Given the description of an element on the screen output the (x, y) to click on. 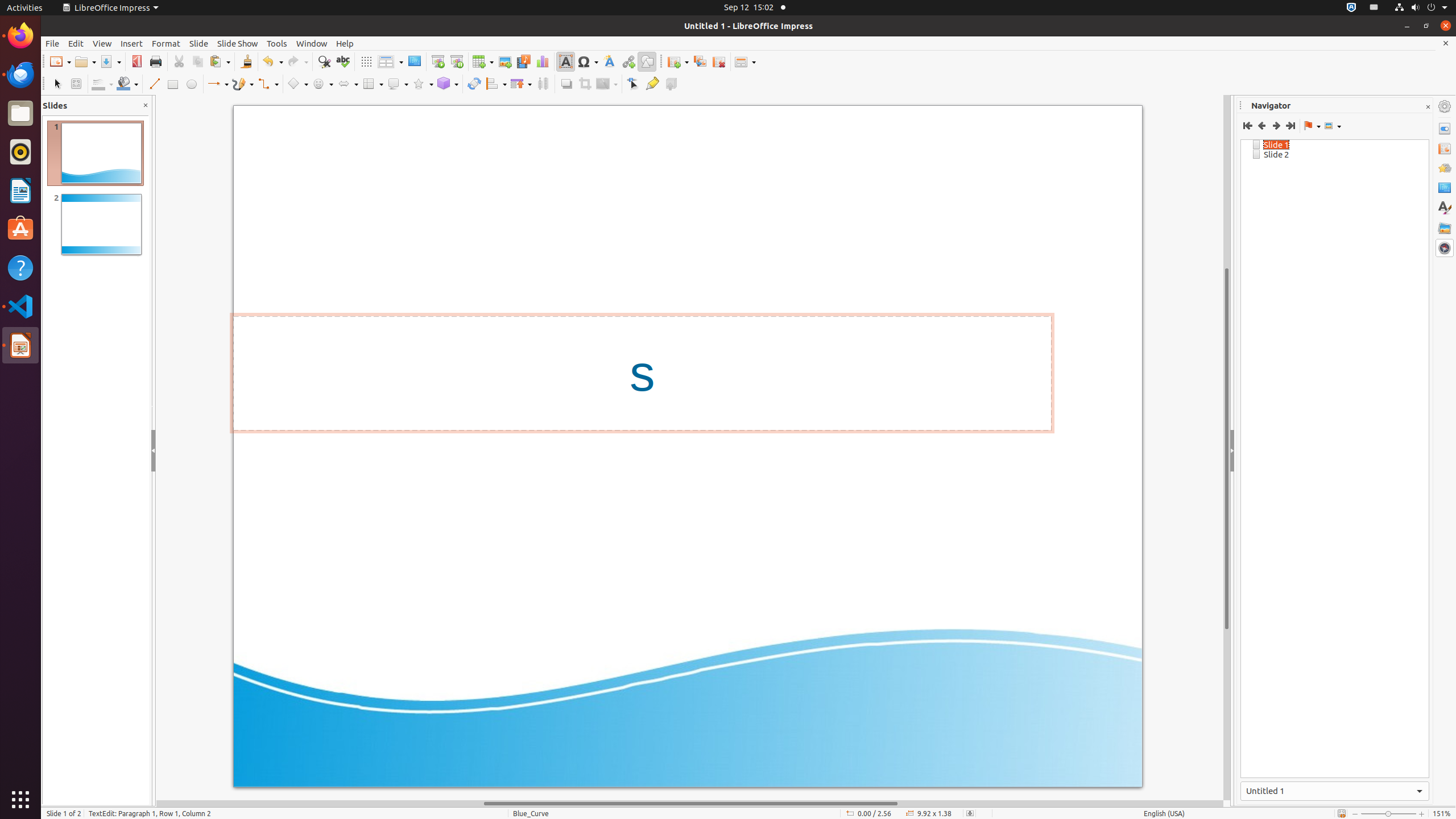
Thunderbird Mail Element type: push-button (20, 74)
Properties Element type: radio-button (1444, 128)
Slide Layout Element type: push-button (744, 61)
Select Element type: push-button (56, 83)
Fill Color Element type: push-button (126, 83)
